Given the description of an element on the screen output the (x, y) to click on. 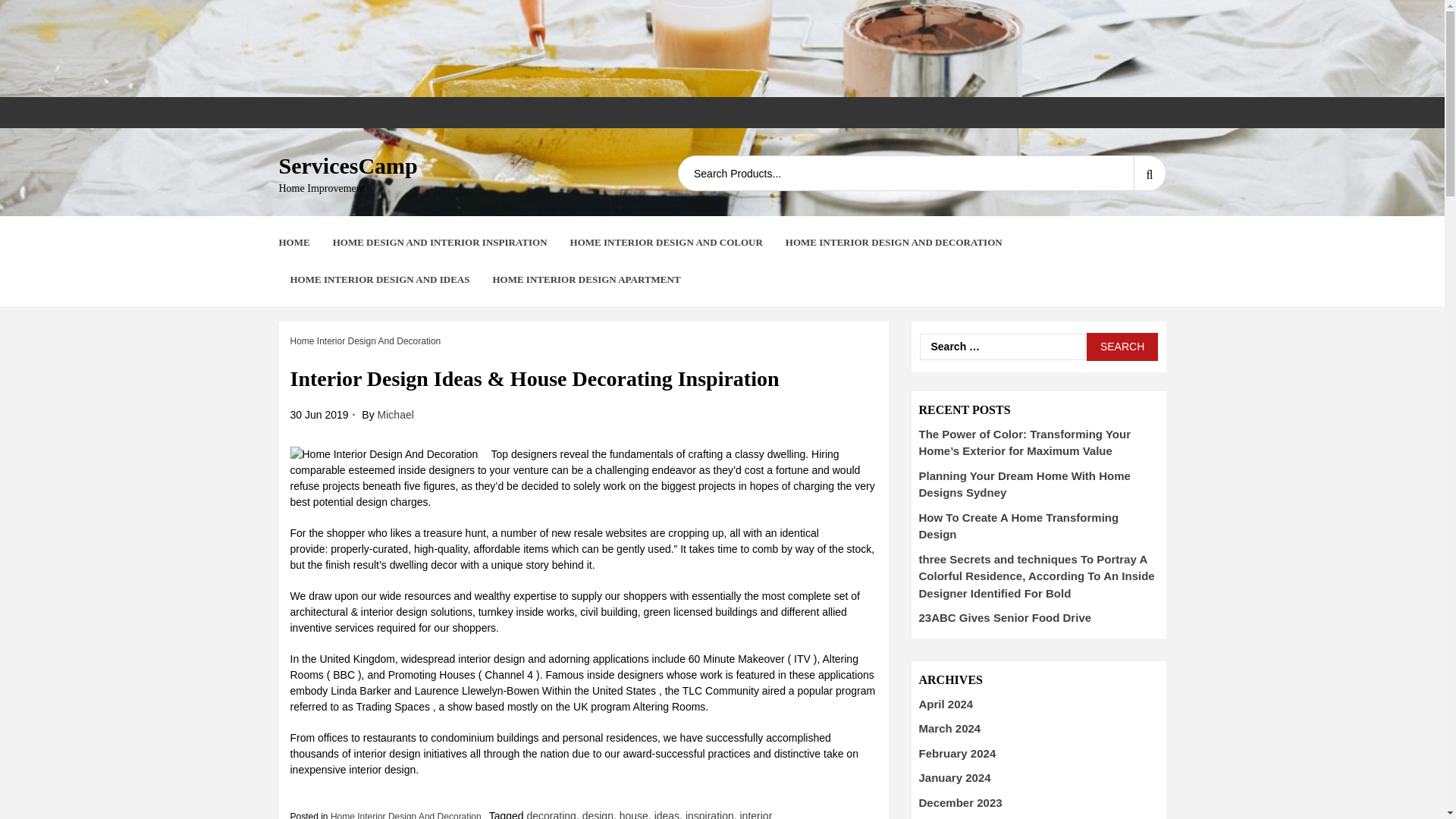
Planning Your Dream Home With Home Designs Sydney (1024, 484)
HOME INTERIOR DESIGN AND DECORATION (894, 242)
December 2023 (960, 802)
design (597, 814)
Home Interior Design And Decoration (405, 815)
Search (1122, 346)
ServicesCamp (348, 165)
HOME INTERIOR DESIGN AND IDEAS (378, 279)
HOME (294, 242)
